Given the description of an element on the screen output the (x, y) to click on. 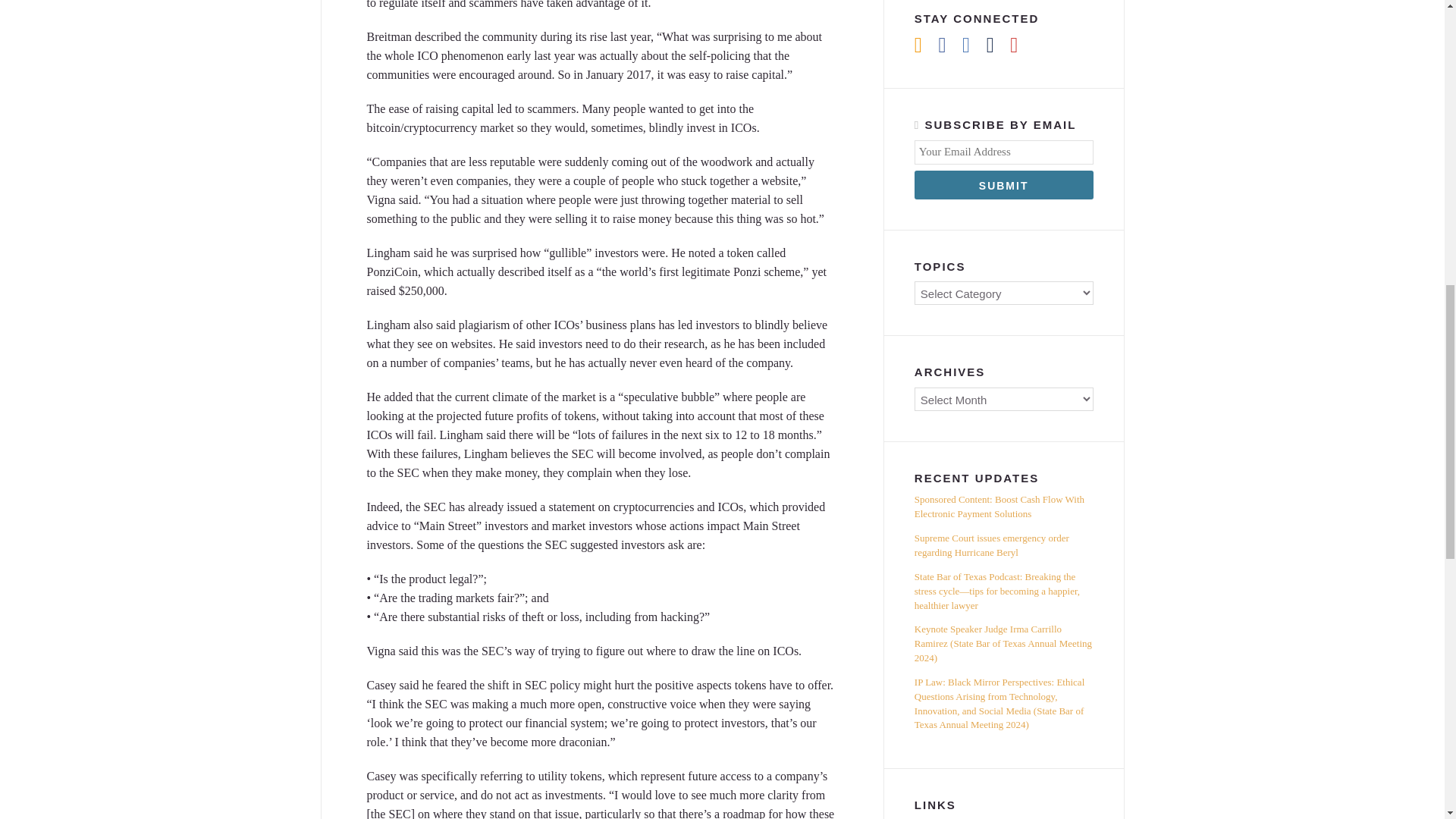
SUBMIT (1003, 184)
